Given the description of an element on the screen output the (x, y) to click on. 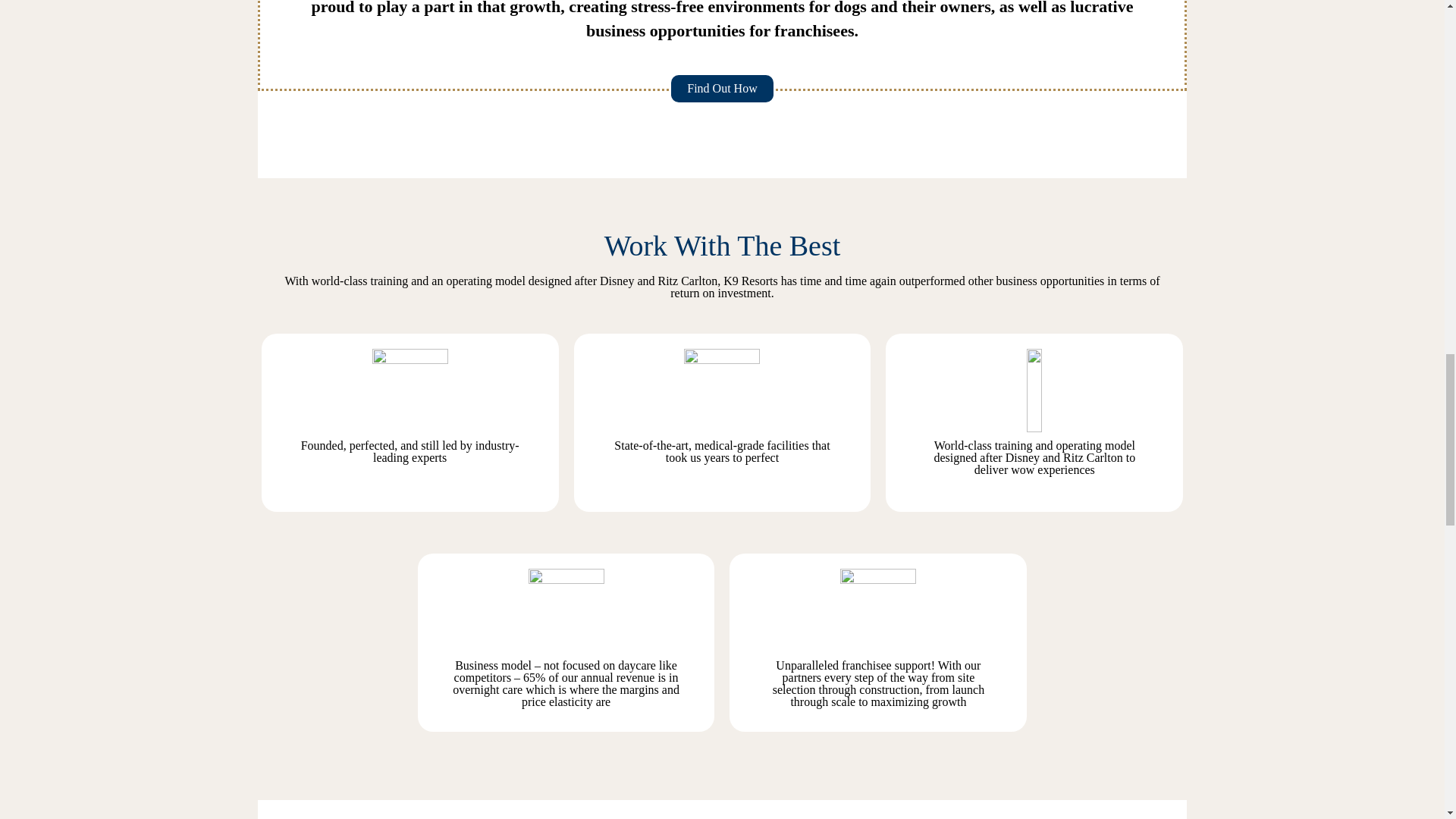
The Process (722, 88)
Find Out How (722, 88)
